Given the description of an element on the screen output the (x, y) to click on. 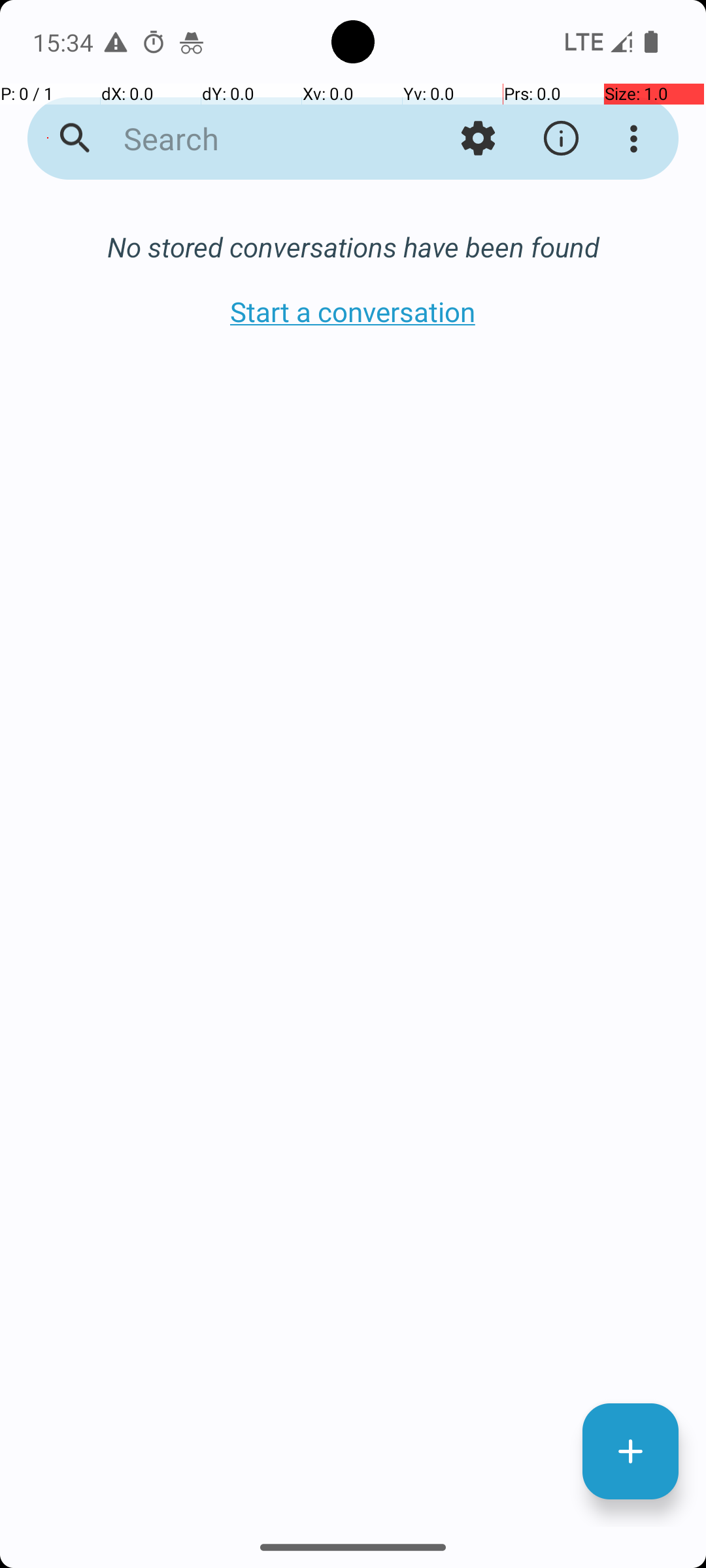
No stored conversations have been found Element type: android.widget.TextView (353, 246)
Start a conversation Element type: android.widget.TextView (352, 311)
